Given the description of an element on the screen output the (x, y) to click on. 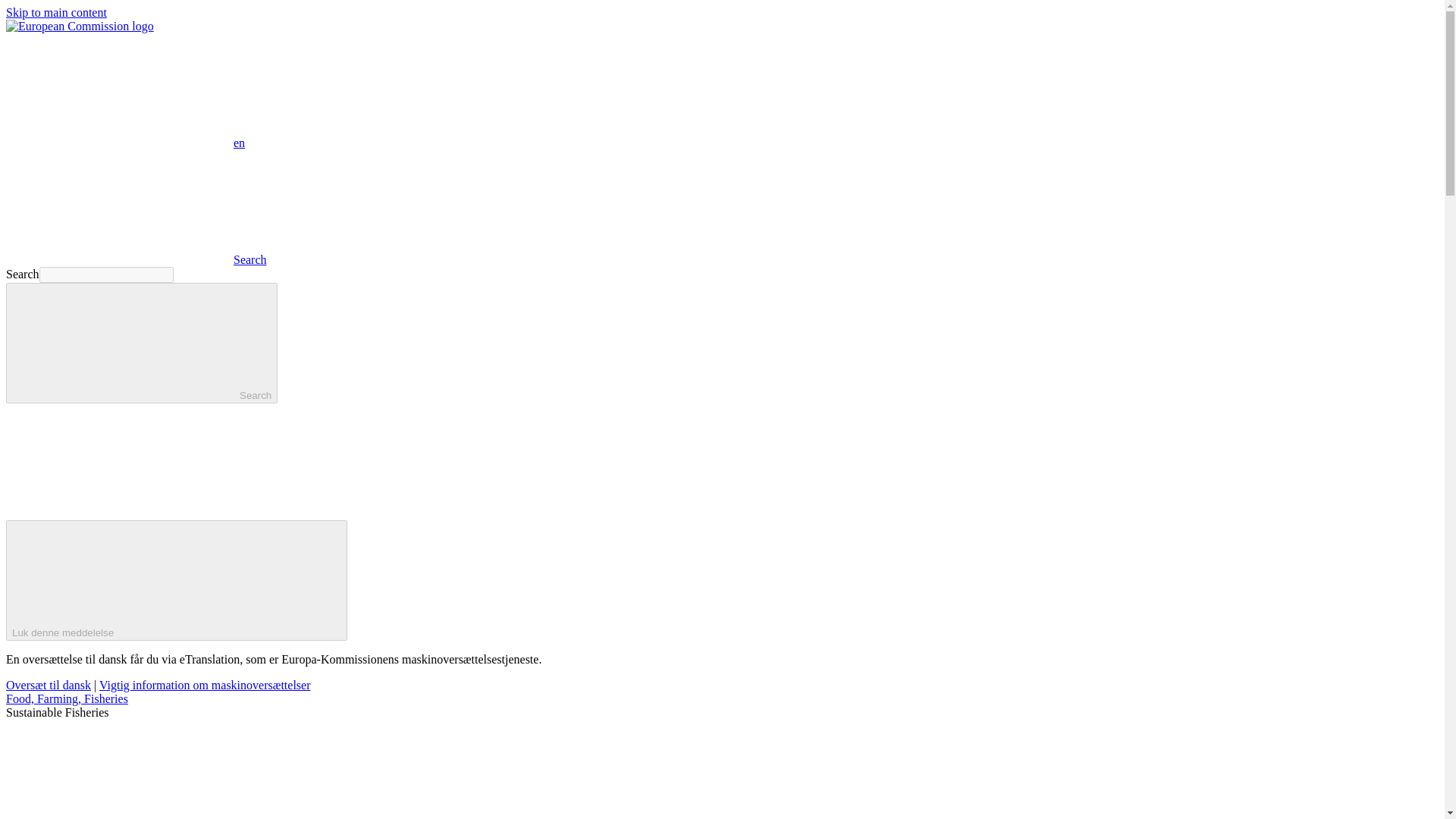
Food, Farming, Fisheries (66, 698)
European Commission (79, 25)
Search (141, 342)
enen (124, 142)
Search (135, 259)
Luk denne meddelelse (176, 580)
Skip to main content (55, 11)
en (118, 90)
